Given the description of an element on the screen output the (x, y) to click on. 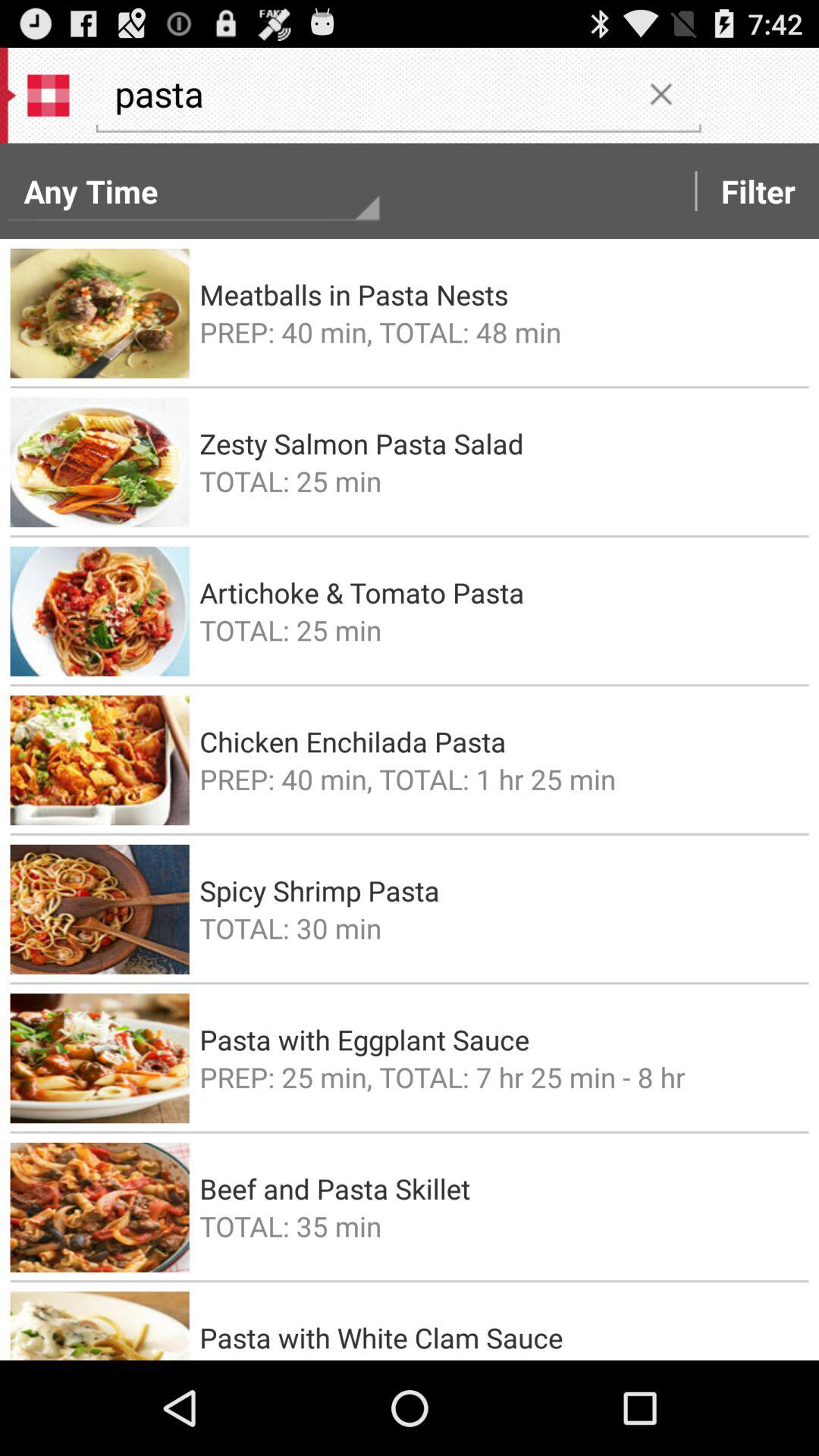
turn on the beef and pasta icon (498, 1188)
